Given the description of an element on the screen output the (x, y) to click on. 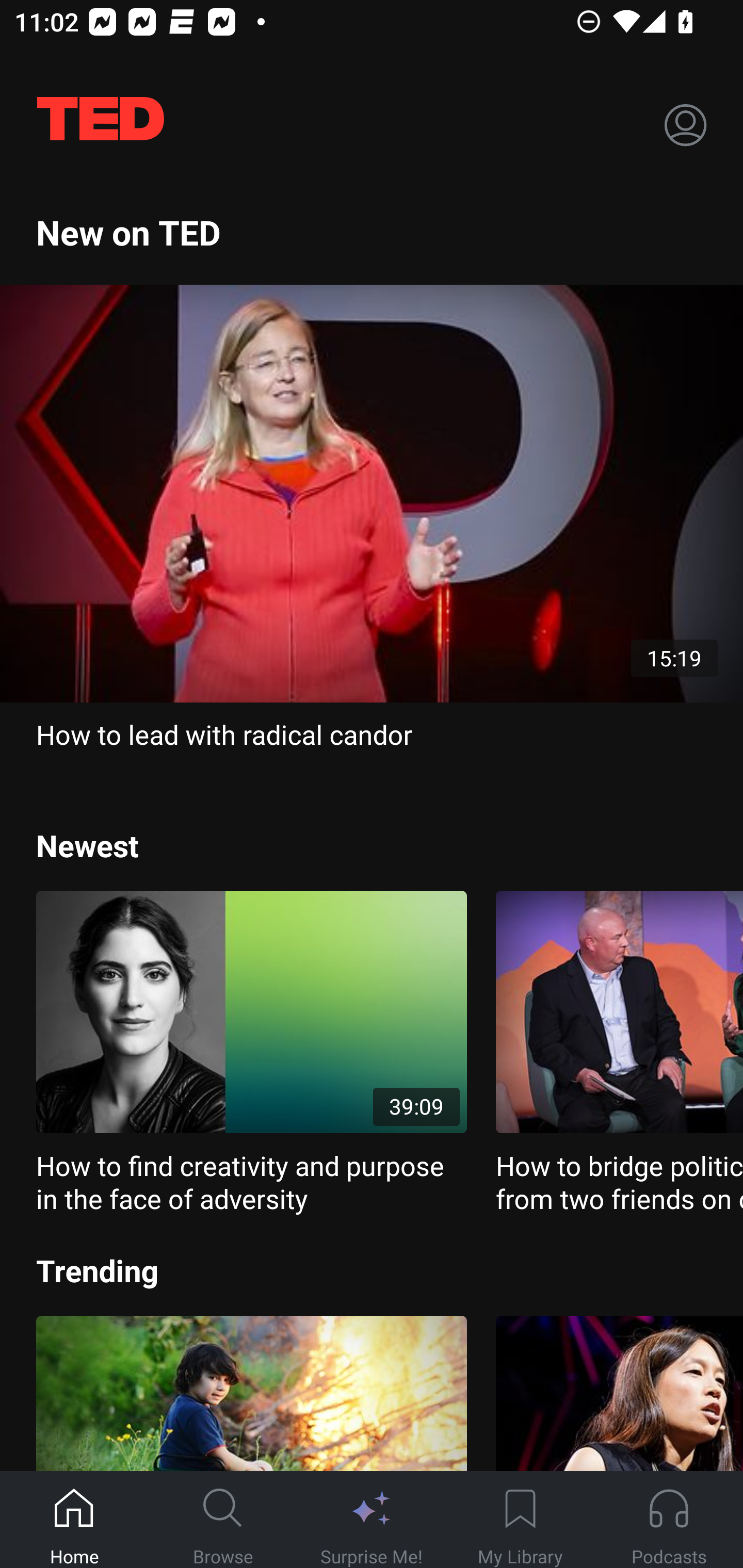
Home (74, 1520)
Browse (222, 1520)
Surprise Me! (371, 1520)
My Library (519, 1520)
Podcasts (668, 1520)
